Given the description of an element on the screen output the (x, y) to click on. 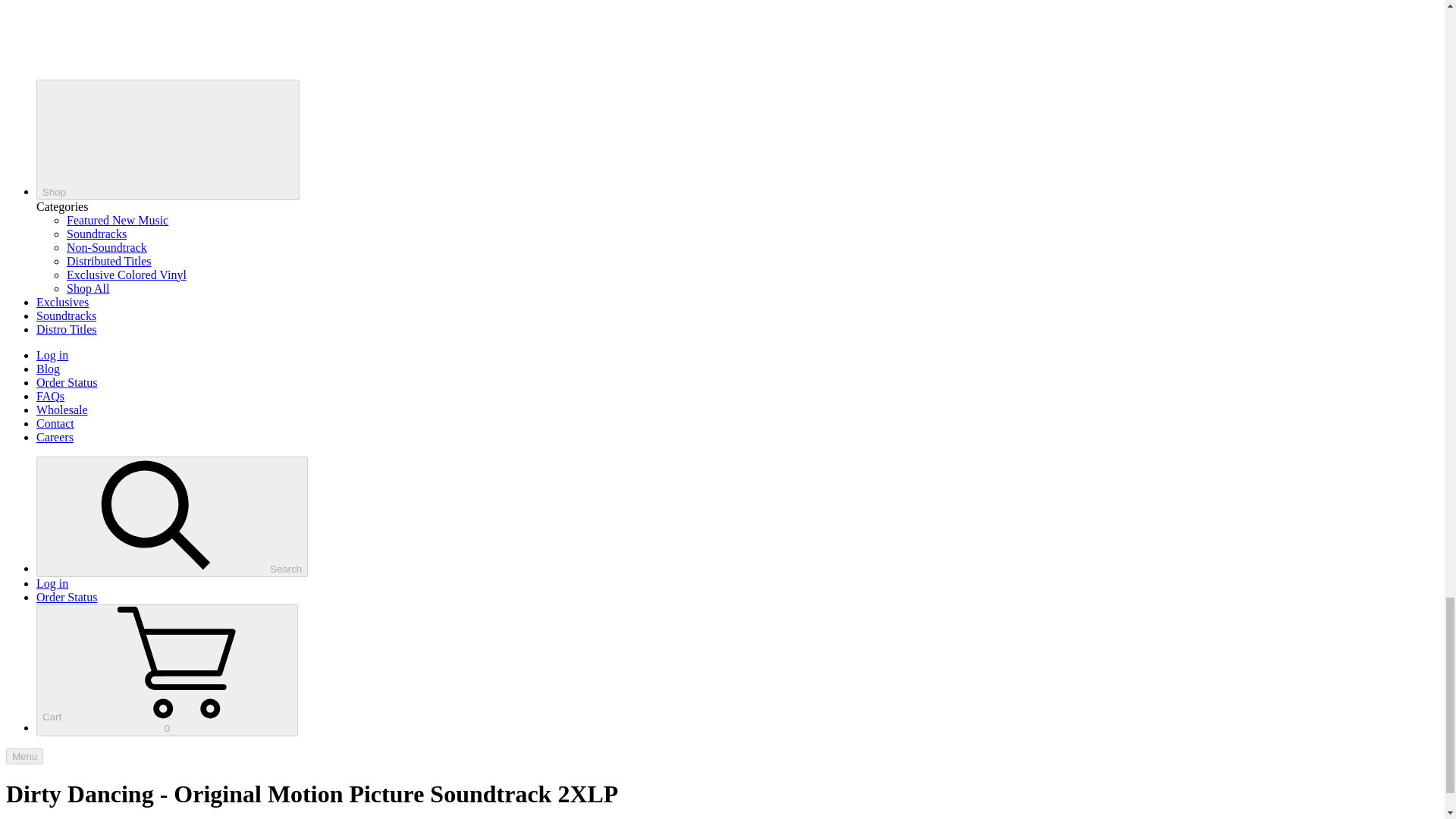
Shop All (87, 287)
Log in (52, 583)
Order Status (66, 382)
Exclusives (62, 301)
Distro Titles (66, 328)
Distributed Titles (108, 260)
Menu (24, 756)
Shop (167, 139)
FAQs (167, 670)
Order Status (50, 395)
Soundtracks (66, 596)
Wholesale (96, 233)
Search (61, 409)
Soundtracks (171, 516)
